Given the description of an element on the screen output the (x, y) to click on. 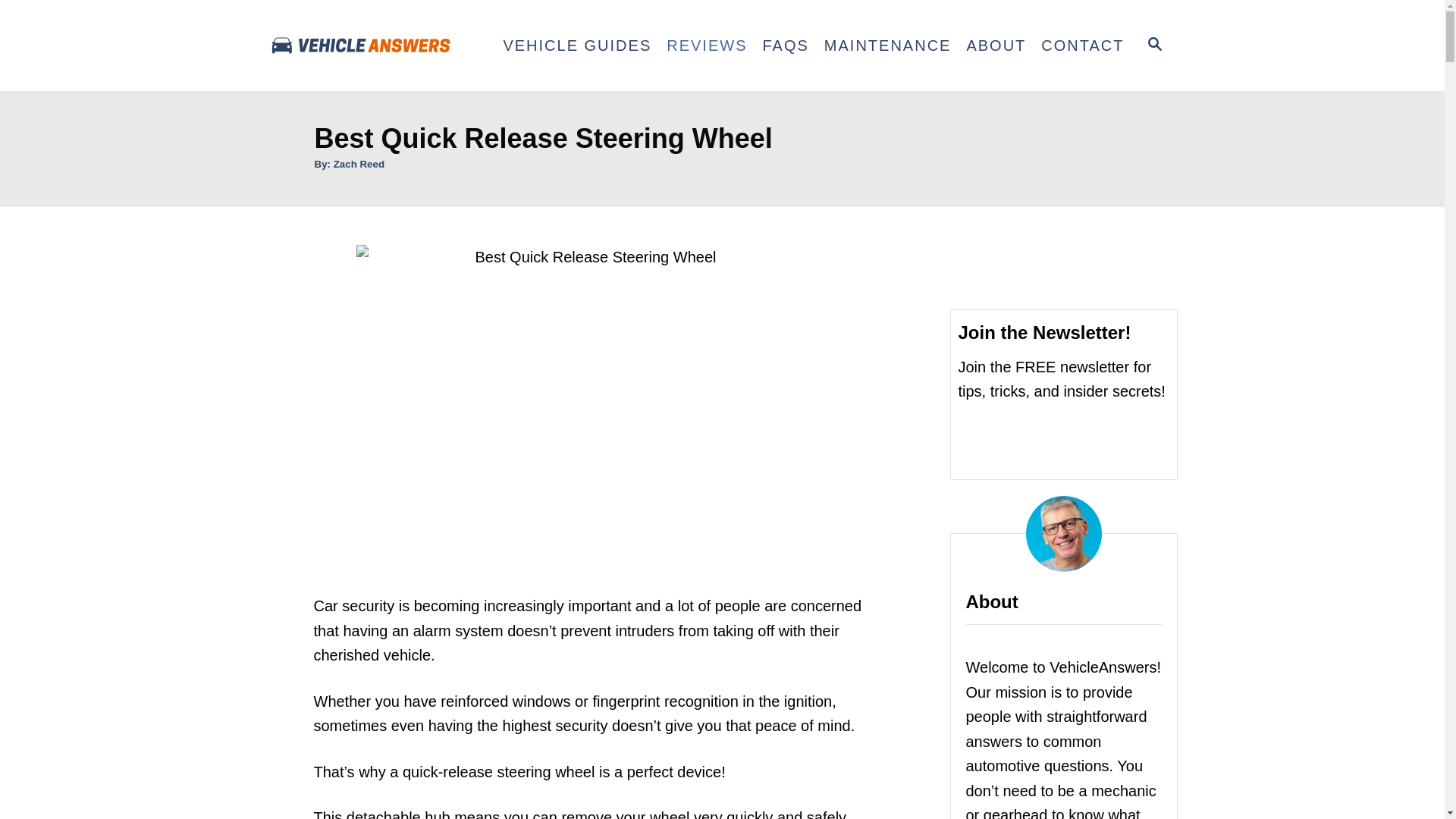
REVIEWS (706, 45)
CONTACT (1082, 45)
Vehicle Answers (380, 45)
VEHICLE GUIDES (577, 45)
SEARCH (1154, 45)
FAQS (784, 45)
ABOUT (995, 45)
Zach Reed (358, 163)
MAINTENANCE (887, 45)
